Given the description of an element on the screen output the (x, y) to click on. 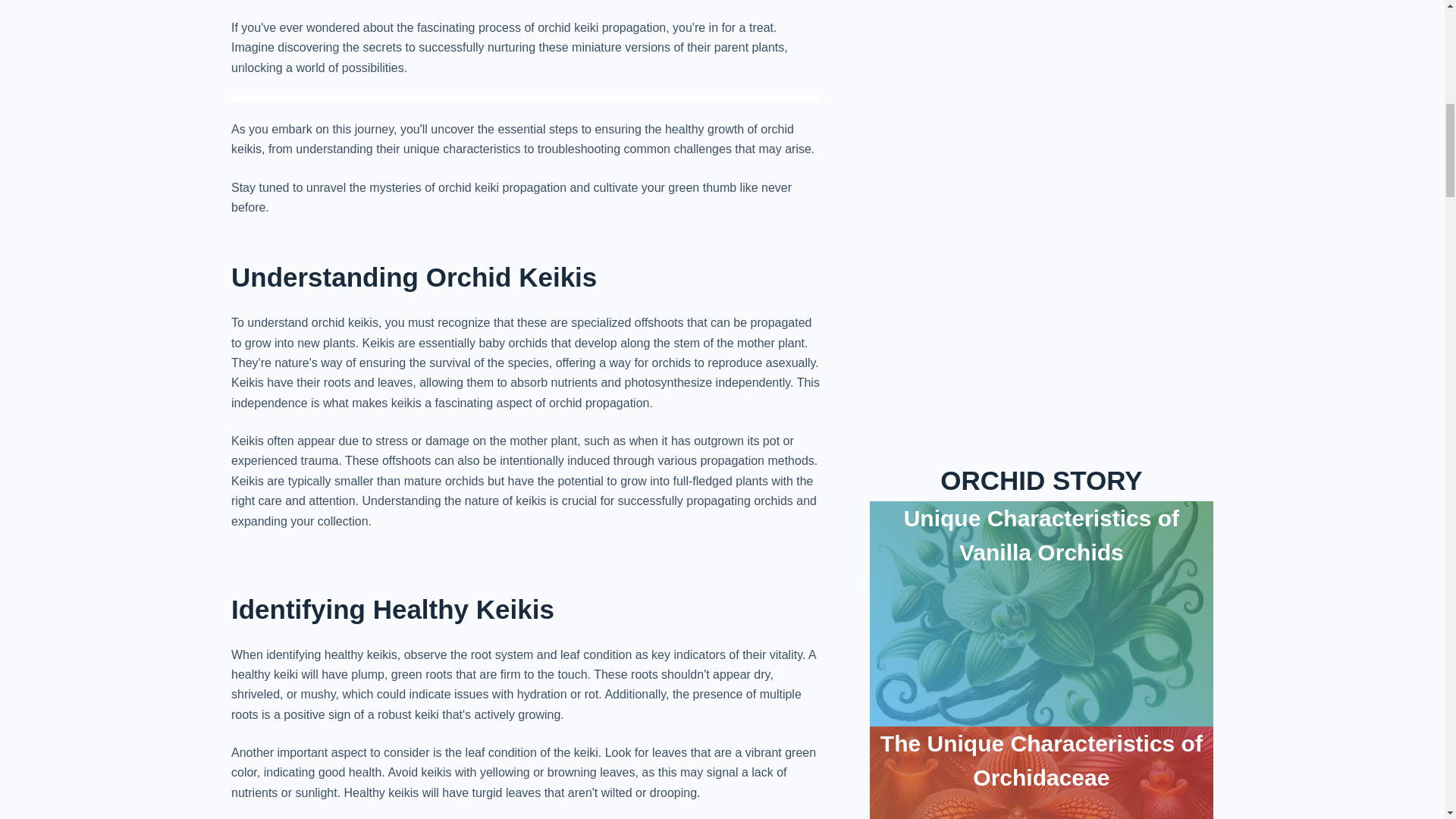
Why Is Vanilla Such a Popular Flavor? (1041, 257)
Comprehensive Guide to Laminae (1041, 707)
The Art of Pollinating in Gardens (1041, 482)
The Unique Characteristics of Orchidaceae (1041, 32)
Advertisement (526, 6)
